Given the description of an element on the screen output the (x, y) to click on. 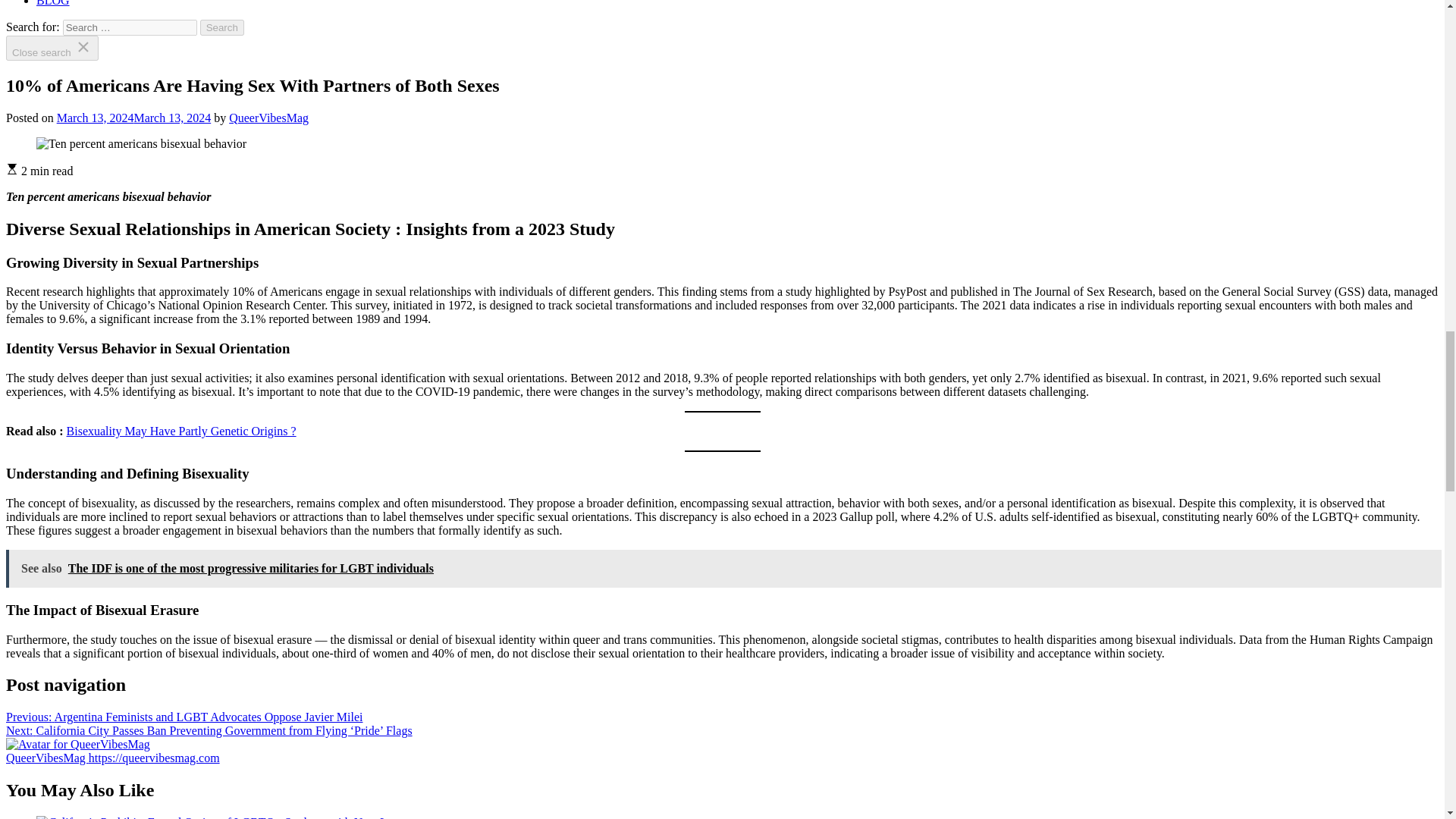
QueerVibesMag (77, 744)
Search (222, 27)
QueerVibesMag (46, 757)
Search (222, 27)
